Given the description of an element on the screen output the (x, y) to click on. 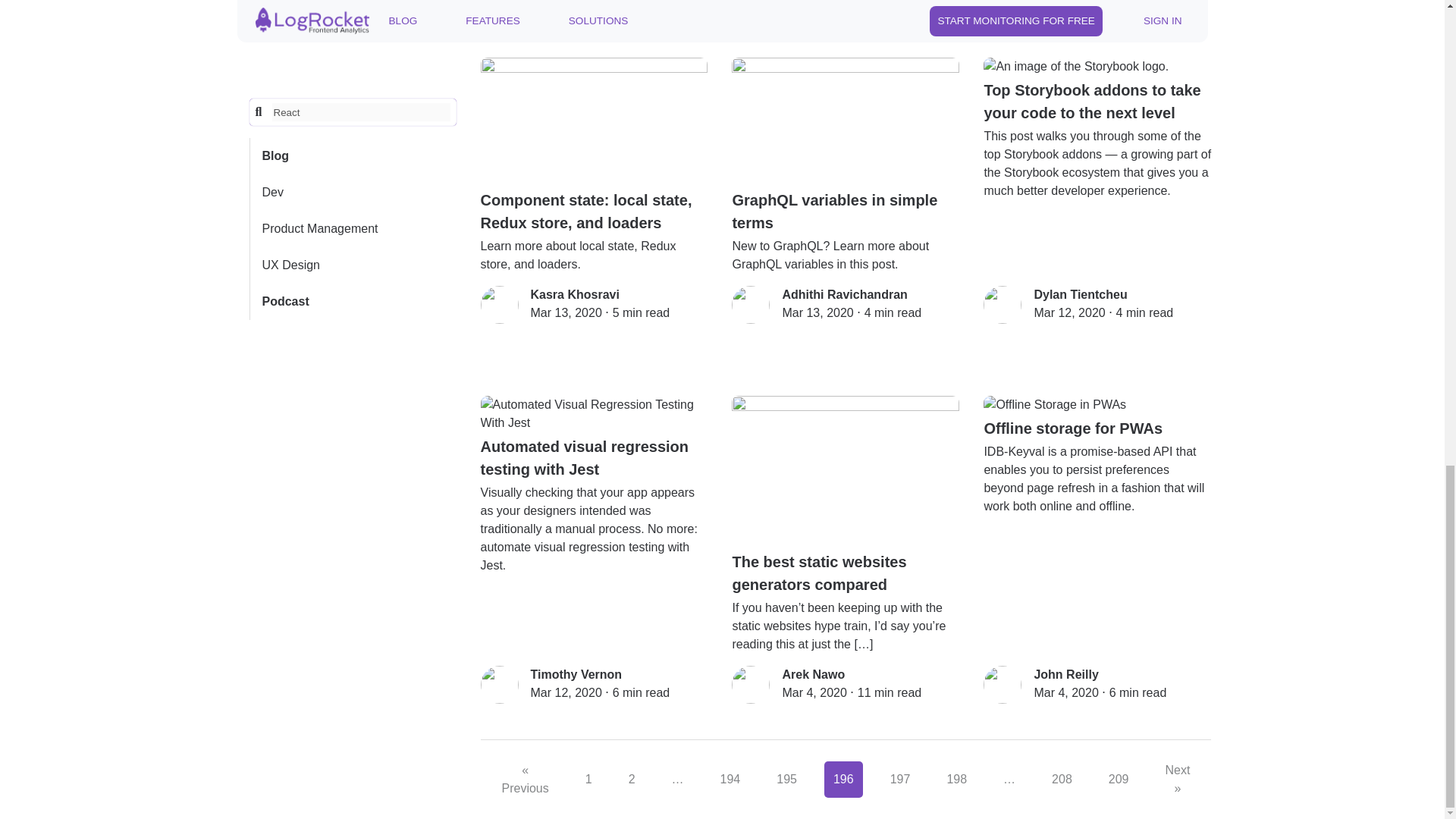
Component state: local state, Redux store, and loaders (593, 145)
GraphQL variables in simple terms (845, 145)
Kasra Khosravi (575, 294)
